Given the description of an element on the screen output the (x, y) to click on. 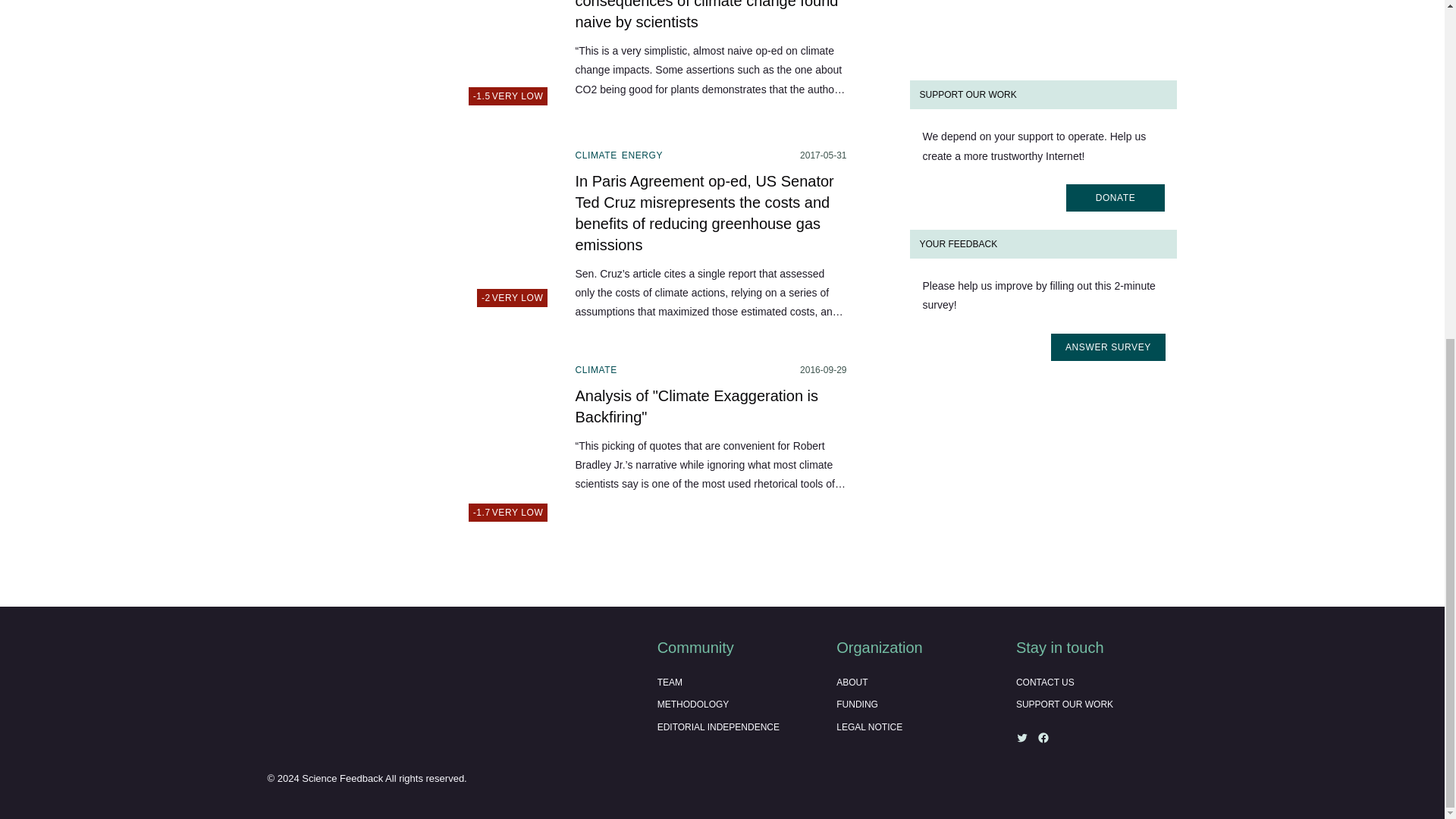
DONATE (1114, 62)
ANSWER SURVEY (411, 232)
Analysis of "Climate Exaggeration is Backfiring" (411, 58)
